Given the description of an element on the screen output the (x, y) to click on. 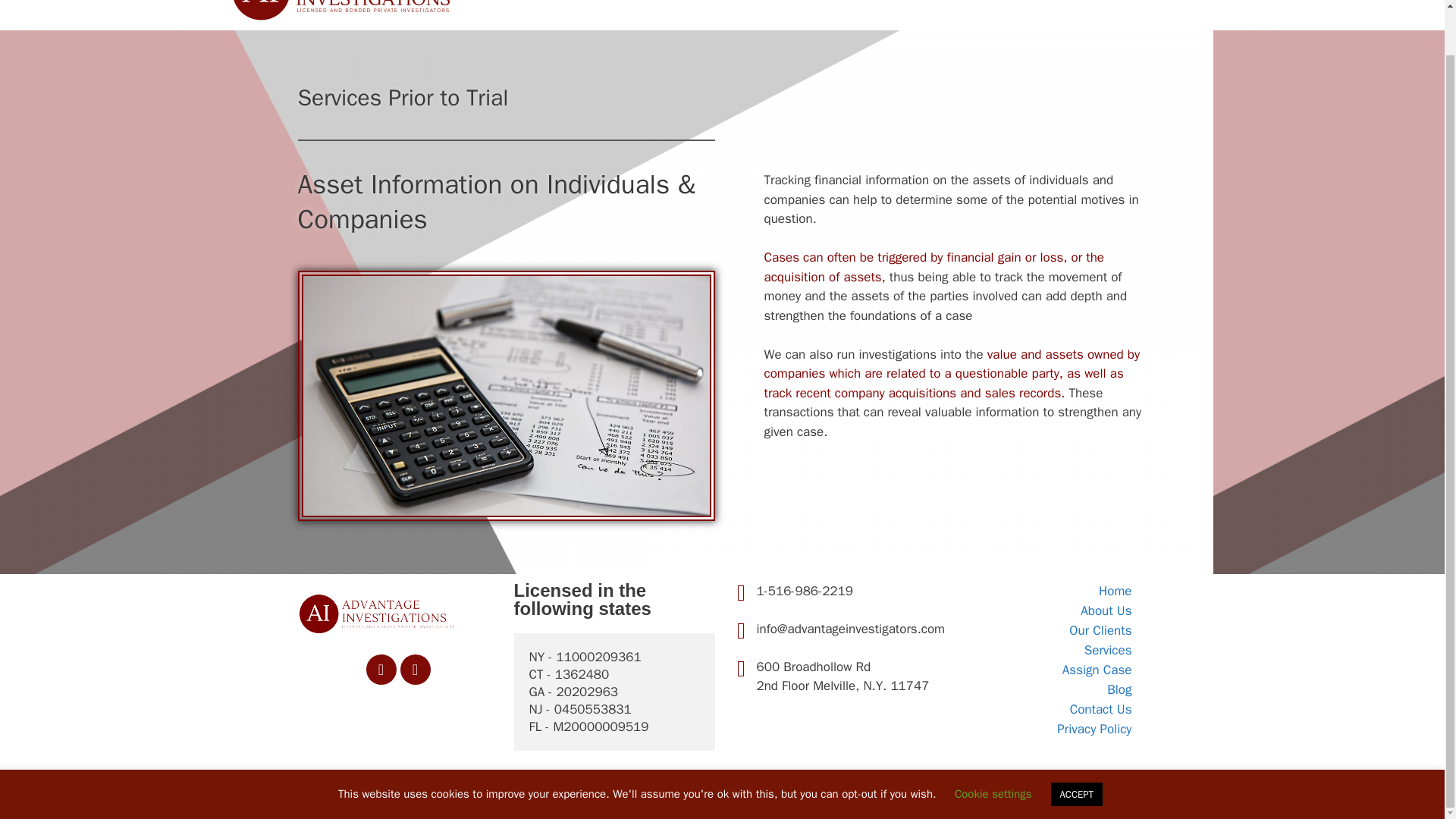
Services (1046, 650)
About Us (1046, 610)
Privacy Policy (1046, 729)
Contact Us (1086, 4)
Blog (1046, 690)
Cookie settings (993, 745)
Home (693, 4)
Services (892, 4)
Blog (1028, 4)
Privacy Policy (1169, 4)
